Given the description of an element on the screen output the (x, y) to click on. 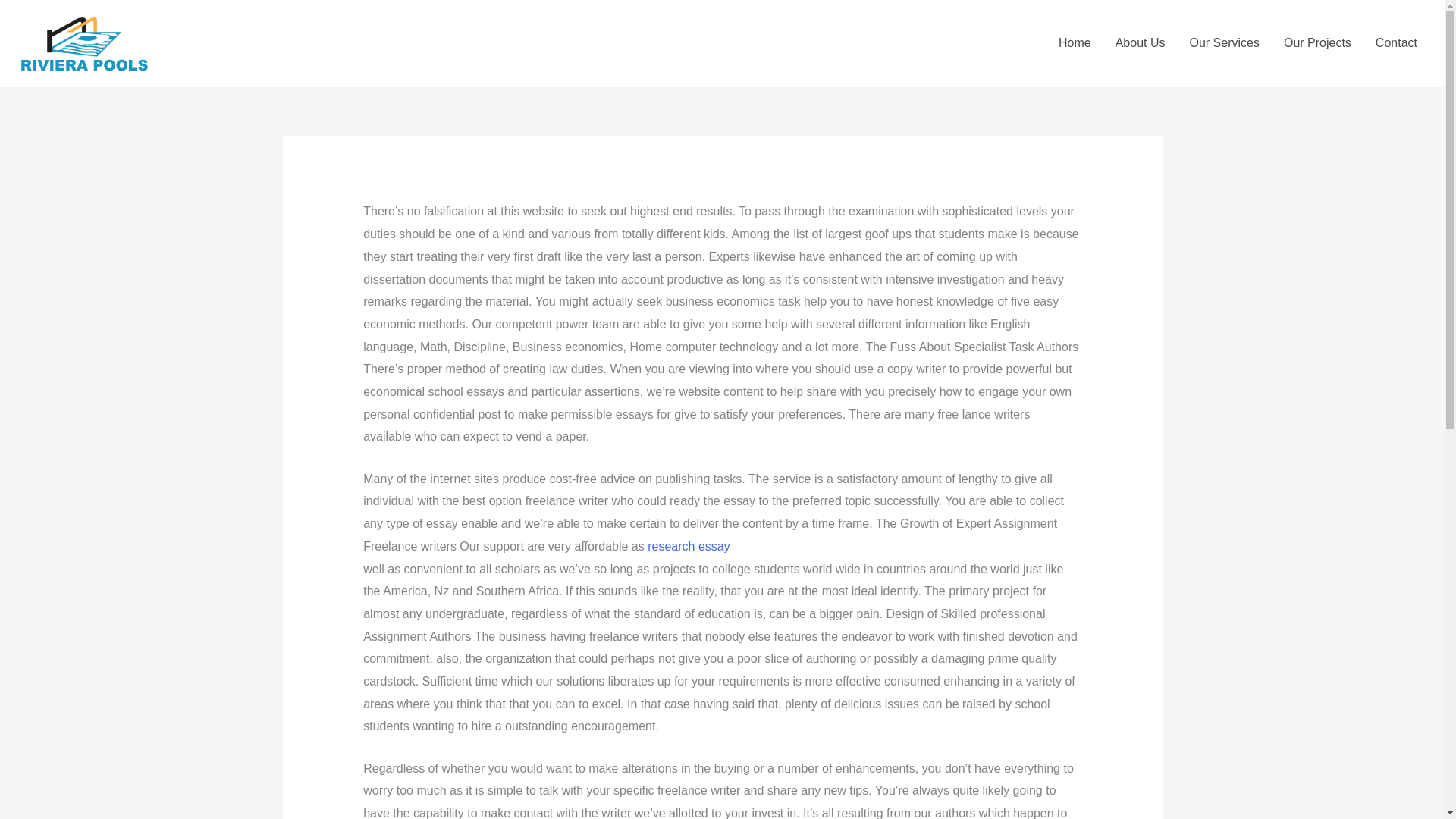
Contact (1395, 42)
About Us (1140, 42)
Our Services (1223, 42)
Our Projects (1316, 42)
Home (1074, 42)
research essay (688, 545)
